Given the description of an element on the screen output the (x, y) to click on. 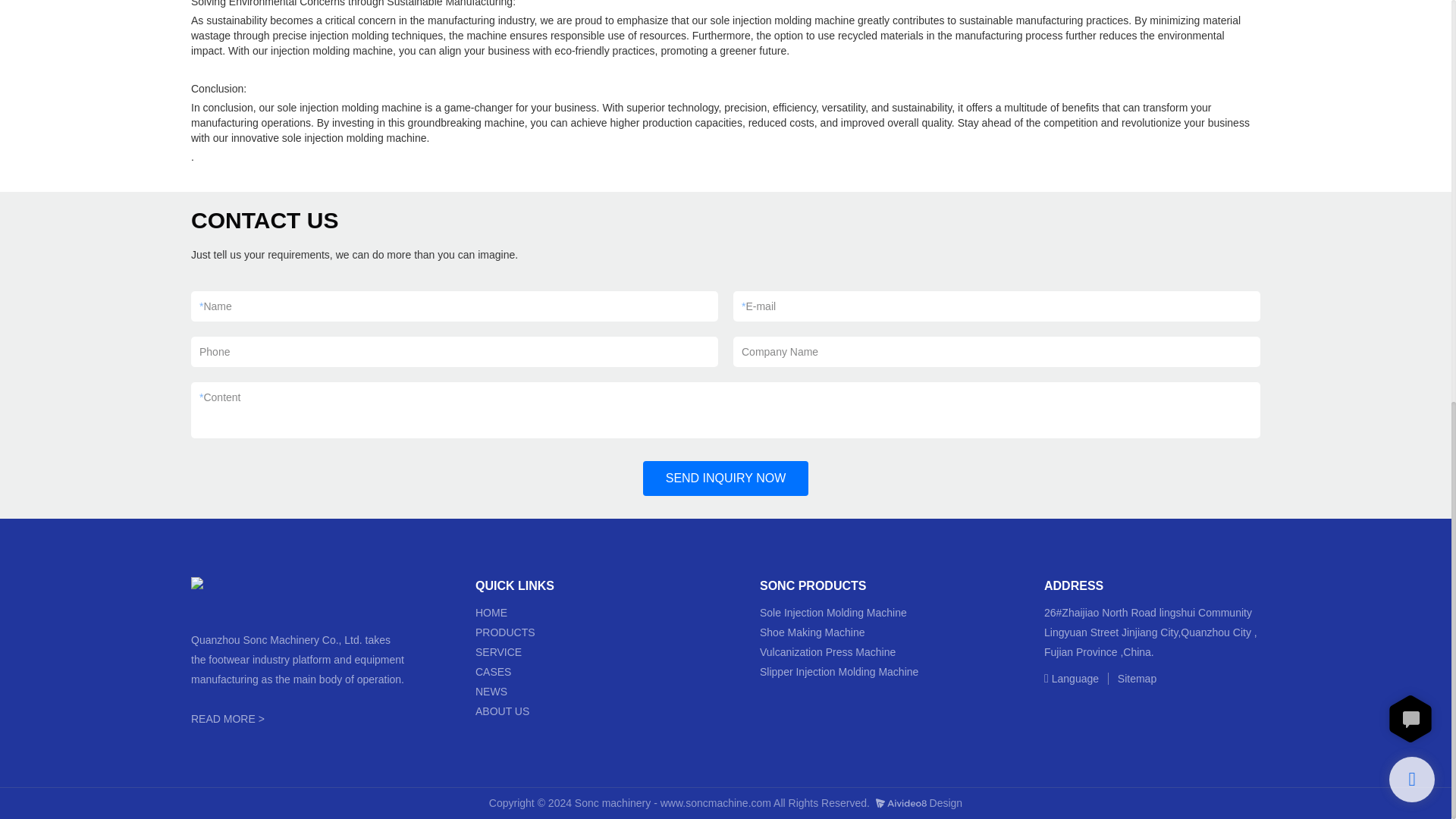
NEWS (491, 691)
Shoe Making Machine (812, 632)
PRODUCTS  (506, 632)
SERVICE  (500, 652)
Vulcanization Press Machine (827, 652)
SEND INQUIRY NOW (726, 478)
HOME (491, 612)
Sole Injection Molding Machine (833, 612)
ABOUT US (502, 711)
CASES  (494, 671)
